Given the description of an element on the screen output the (x, y) to click on. 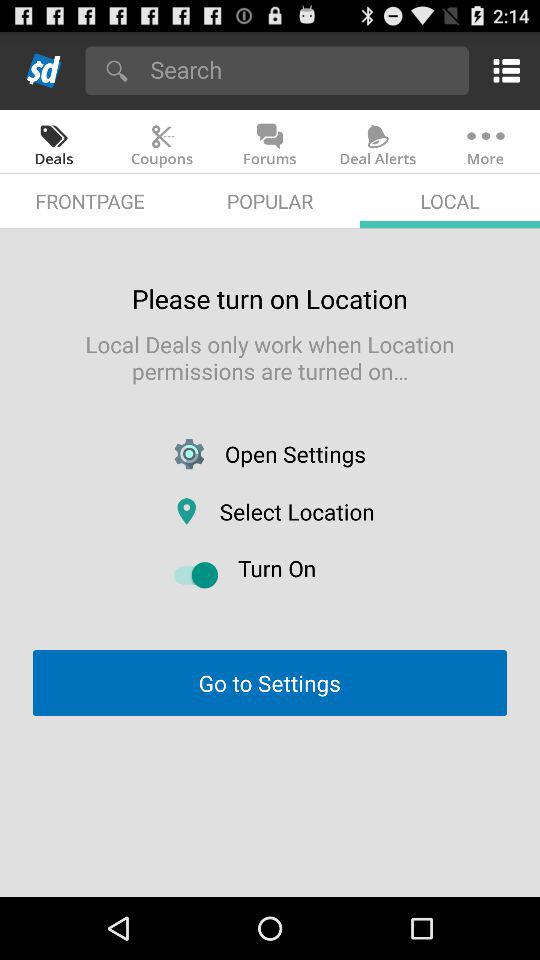
open go to settings (269, 682)
